Given the description of an element on the screen output the (x, y) to click on. 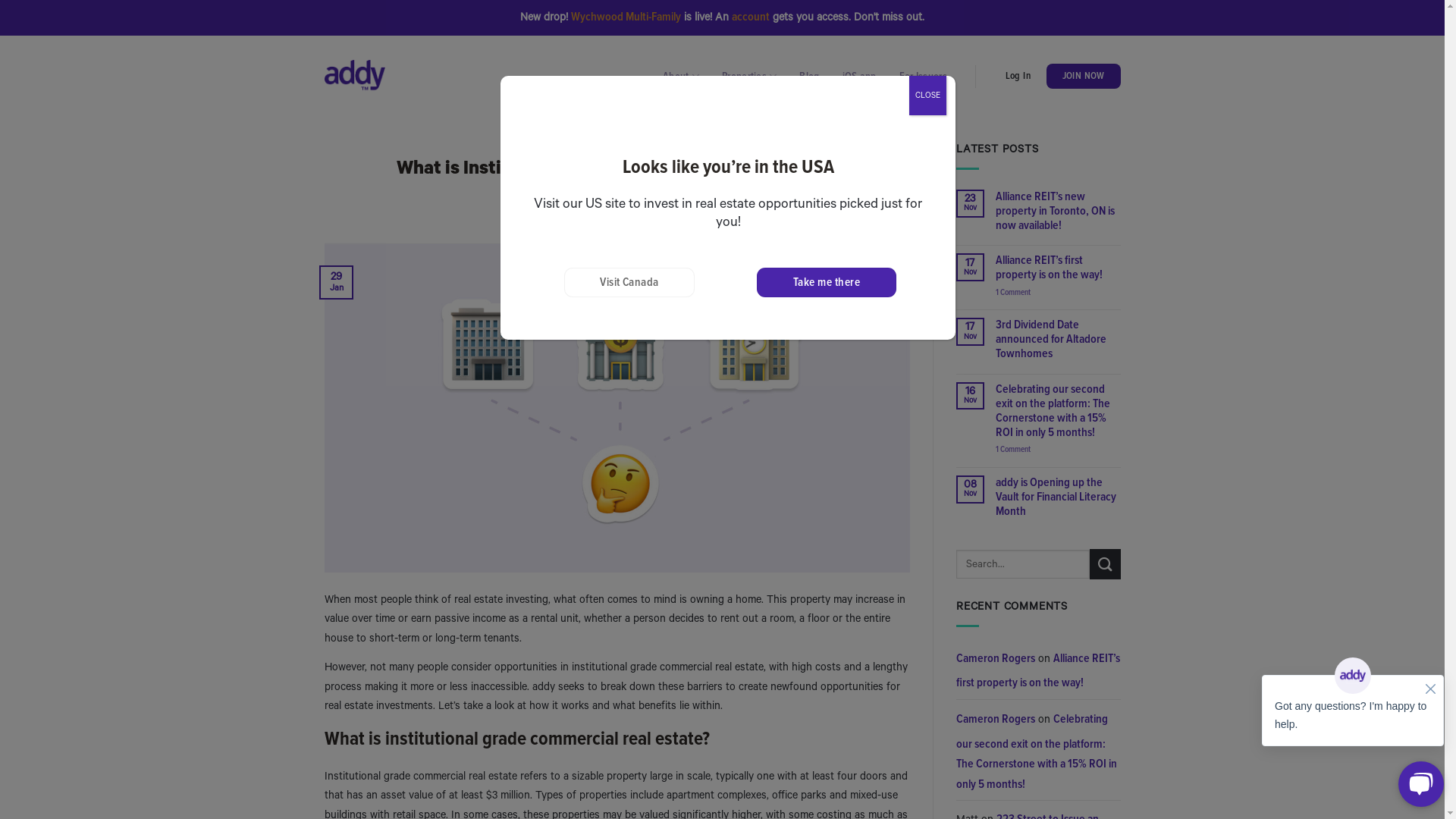
Skip to content Element type: text (5, 35)
Properties Element type: text (748, 76)
Cameron Rogers Element type: text (995, 657)
addy - Real Estate for Everyone Element type: hover (354, 75)
Blog Element type: text (809, 76)
JOIN NOW Element type: text (1083, 76)
RESOURCES Element type: text (616, 144)
3rd Dividend Date announced for Altadore Townhomes Element type: text (1057, 339)
addy is Opening up the Vault for Financial Literacy Month Element type: text (1057, 497)
account Element type: text (750, 16)
Visit Canada Element type: text (629, 282)
Take me there Element type: text (825, 282)
JANUARY 29, 2022 Element type: text (622, 217)
1 Comment Element type: text (1057, 449)
Log In Element type: text (1017, 76)
About Element type: text (680, 76)
For Issuers Element type: text (923, 76)
CLOSE Element type: text (927, 95)
ADDY Element type: text (682, 217)
Wychwood Multi-Family Element type: text (625, 16)
iOS app Element type: text (859, 76)
Cameron Rogers Element type: text (995, 718)
1 Comment Element type: text (1057, 292)
